Given the description of an element on the screen output the (x, y) to click on. 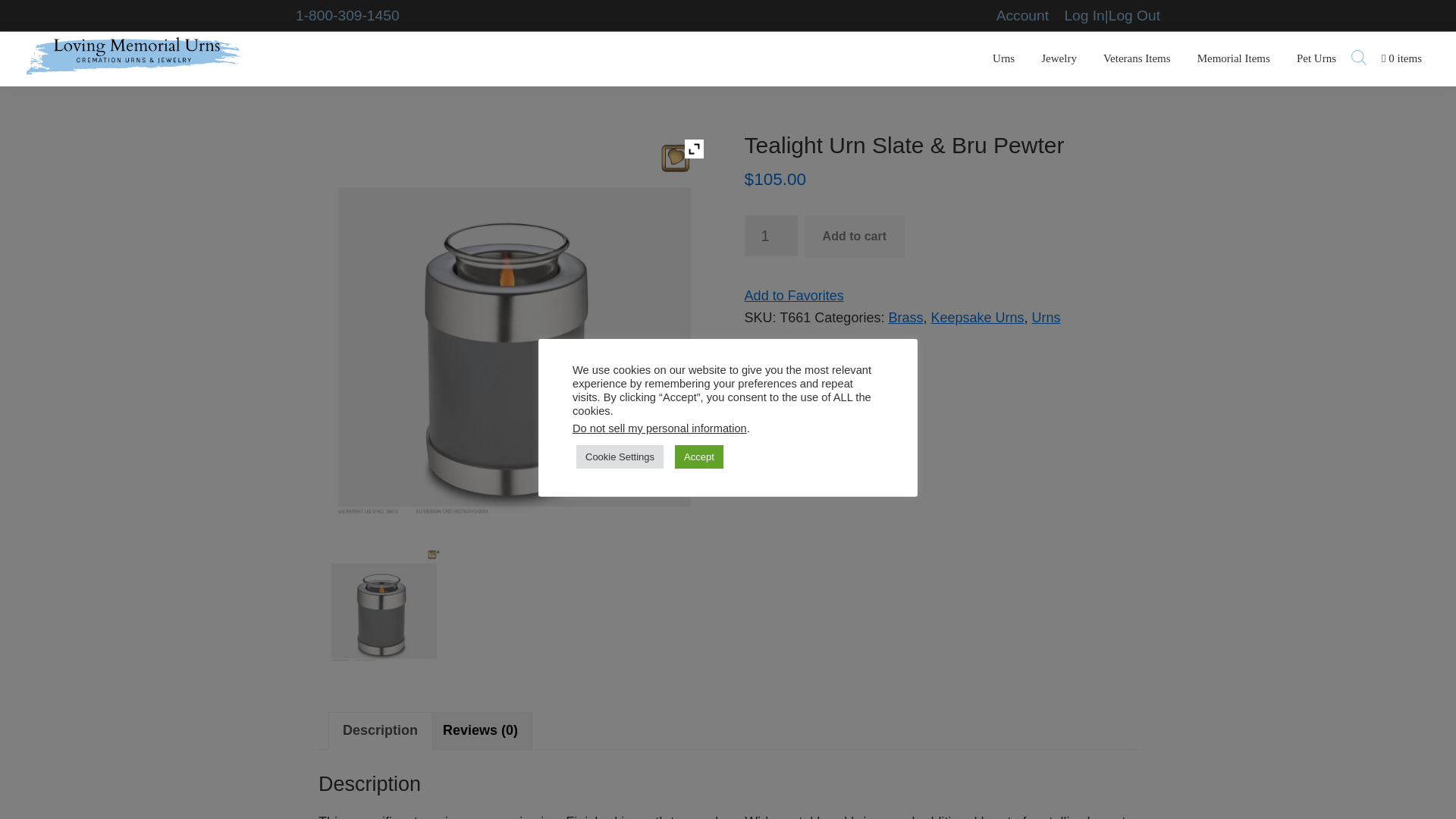
Memorial Items (1233, 58)
Pet Urns (1316, 58)
Start shopping (1401, 58)
0 items (1401, 58)
Jewelry (1058, 58)
1 (770, 235)
Account (1021, 15)
Urns (1003, 58)
1-800-309-1450 (346, 15)
